Given the description of an element on the screen output the (x, y) to click on. 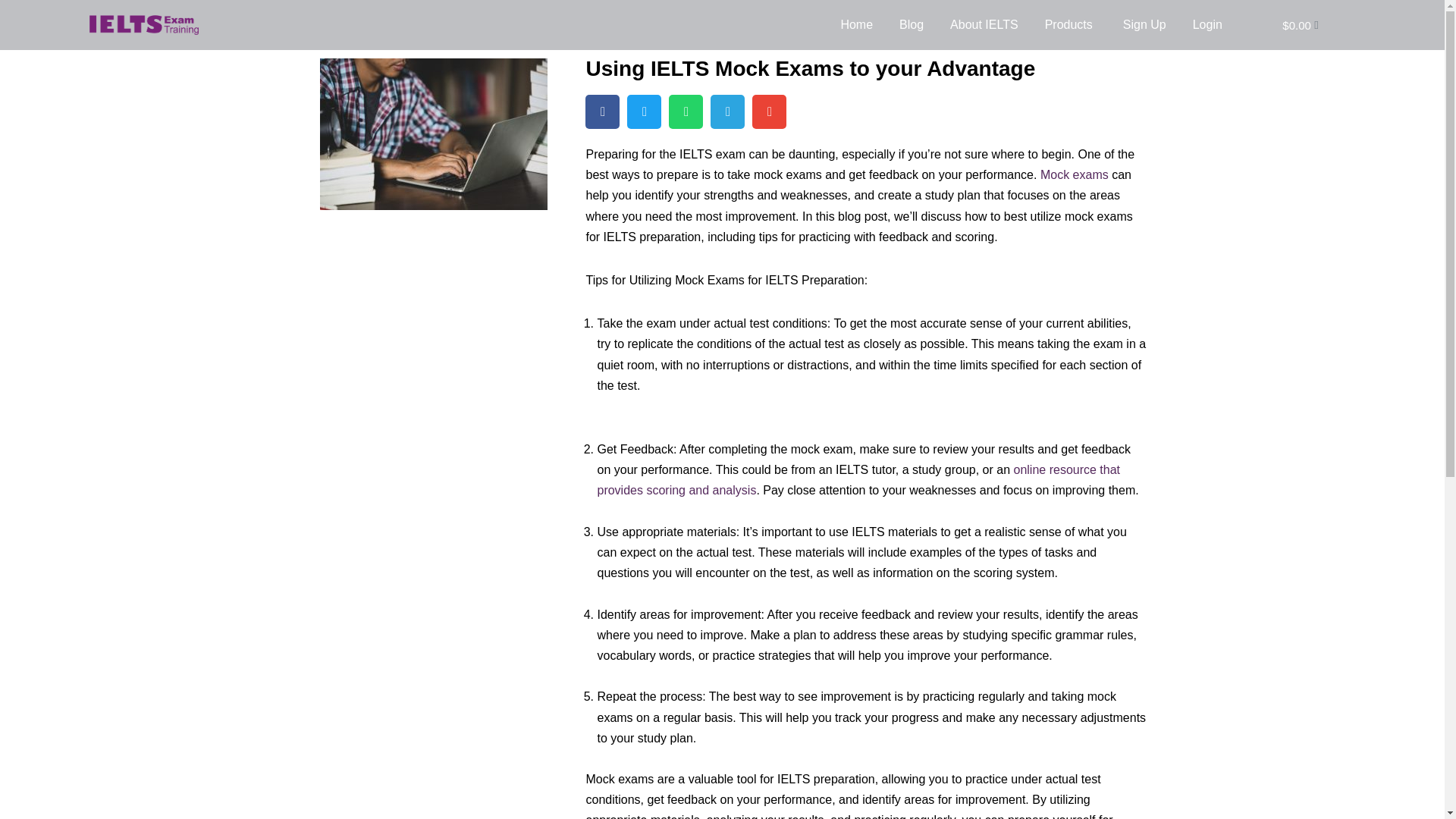
Blog (911, 24)
About IELTS (984, 24)
online resource that provides scoring and analysis (857, 479)
Mock exams (1074, 174)
Sign Up (1144, 24)
Using IELTS Mock Exams to your Advantage (810, 68)
Skip to content (11, 31)
Home (855, 24)
Products (1068, 24)
Login (1206, 24)
